Given the description of an element on the screen output the (x, y) to click on. 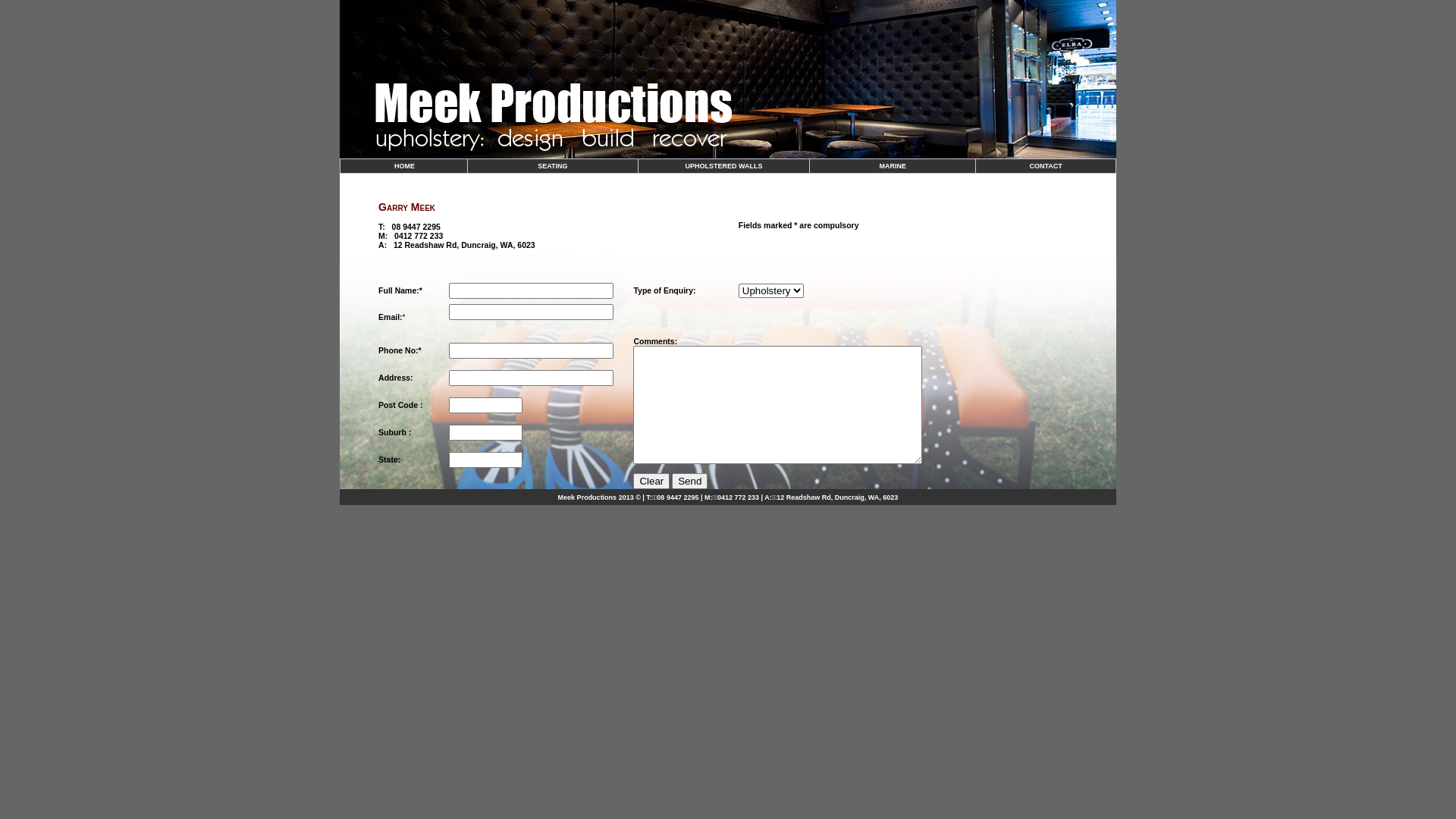
Enter your Postcode Element type: hover (485, 432)
Enter your State Element type: hover (485, 459)
Send Element type: text (689, 481)
 HOME Element type: text (403, 165)
Enter your name Element type: hover (530, 290)
Preferred method of contact Element type: hover (530, 350)
Enter your Message Element type: hover (777, 404)
Enter your address Element type: hover (530, 377)
SEATING Element type: text (552, 165)
Enter your email address Element type: hover (530, 312)
UPHOLSTERED WALLS Element type: text (723, 165)
MARINE Element type: text (892, 165)
CONTACT Element type: text (1045, 165)
Enter your Postcode Element type: hover (485, 405)
